Given the description of an element on the screen output the (x, y) to click on. 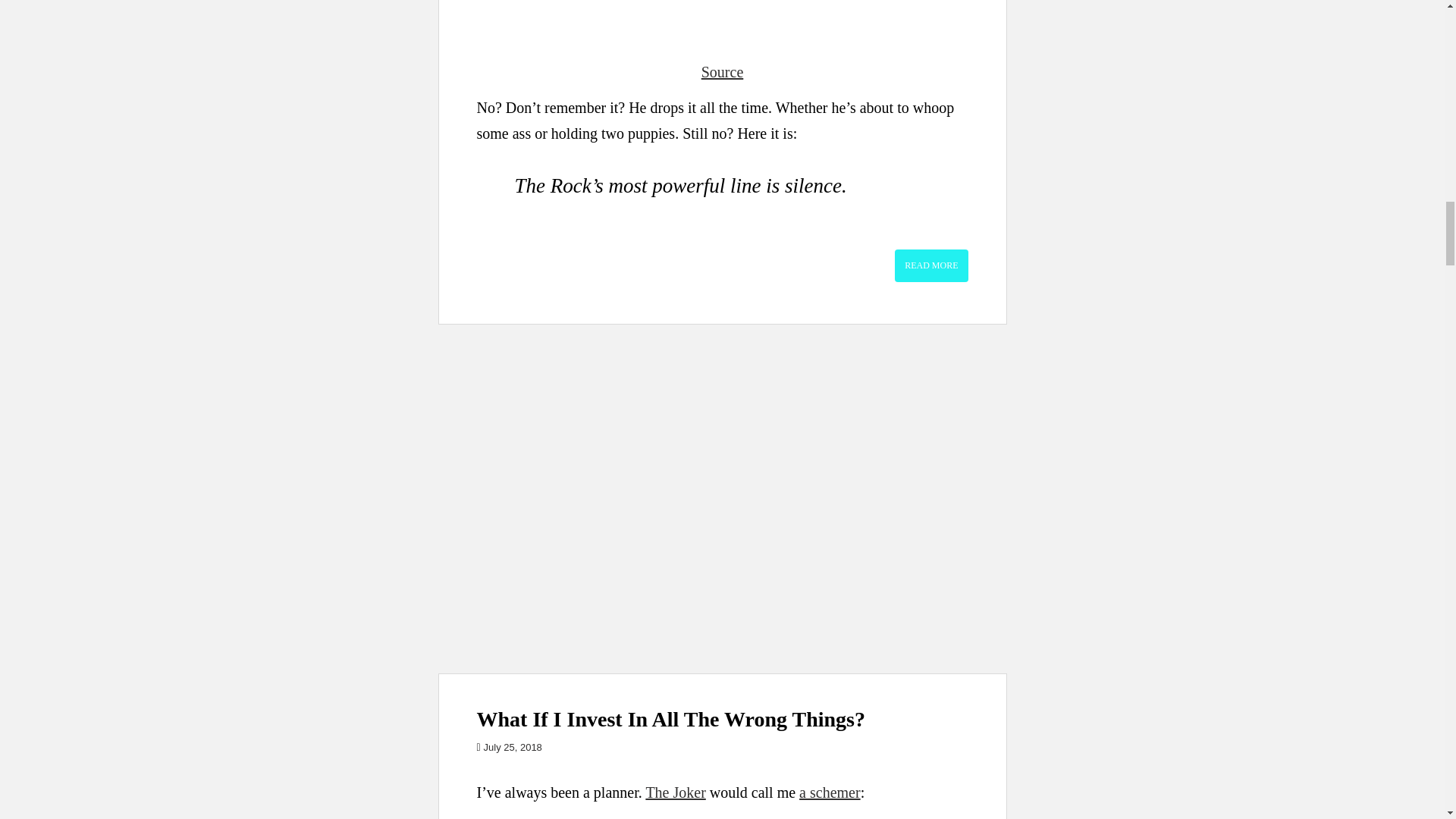
July 25, 2018 (512, 747)
a schemer (829, 791)
What If I Invest In All The Wrong Things? (670, 719)
The Joker (674, 791)
Source (722, 71)
READ MORE (931, 265)
